Given the description of an element on the screen output the (x, y) to click on. 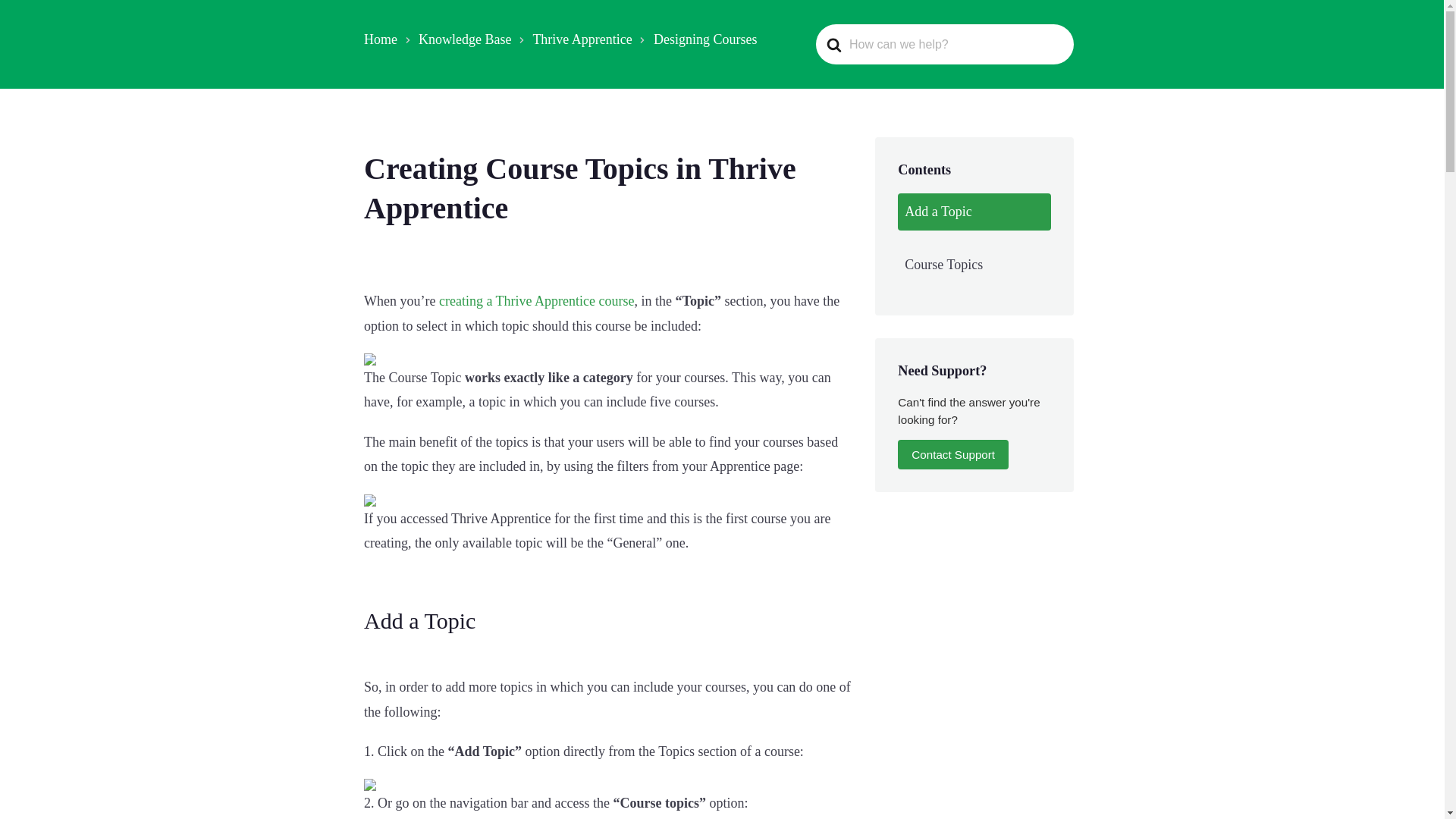
Add a Topic (973, 211)
Home (380, 38)
Course Topics (973, 264)
creating a Thrive Apprentice course (536, 300)
Thrive Apprentice (581, 38)
Designing Courses (705, 38)
Contact Support (953, 454)
Knowledge Base (465, 38)
